Given the description of an element on the screen output the (x, y) to click on. 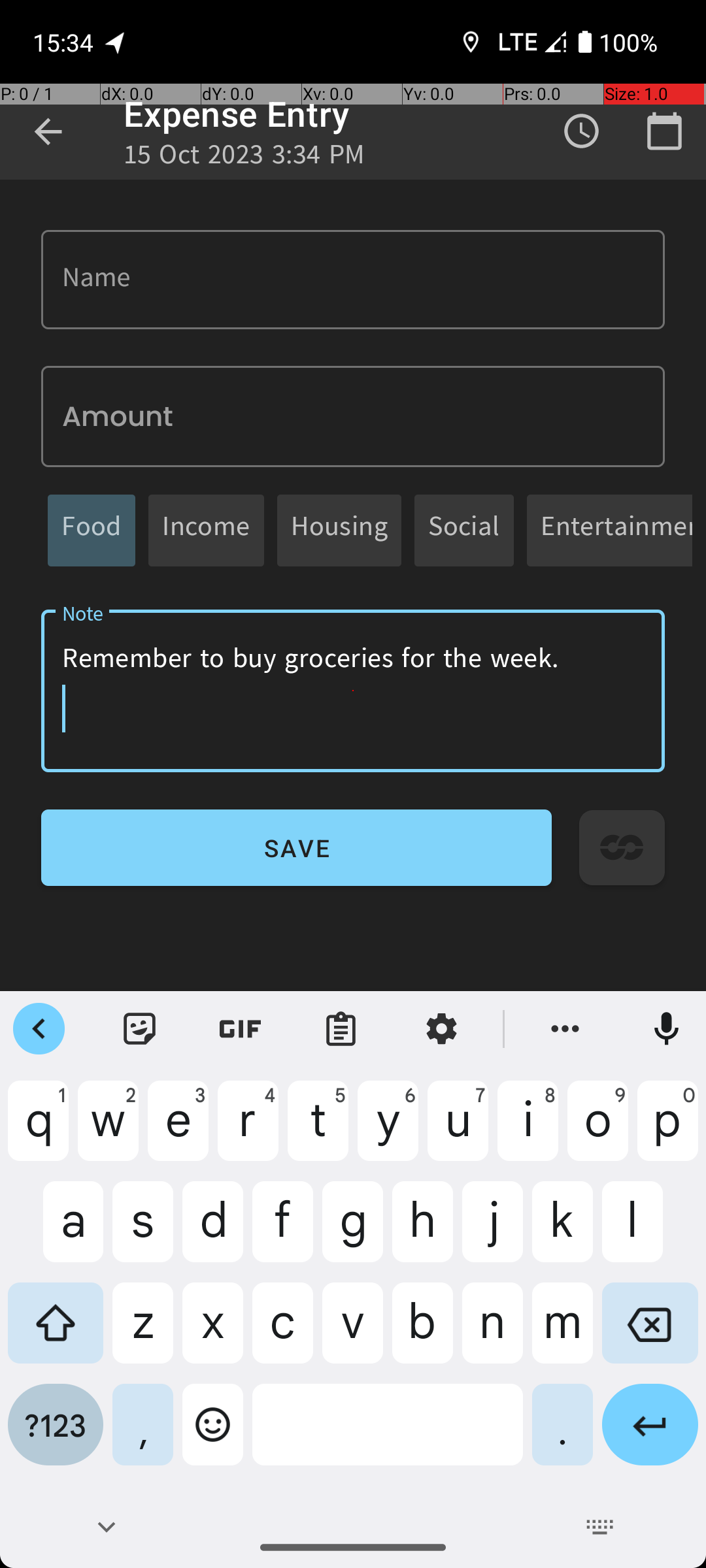
Remember to buy groceries for the week.
 Element type: android.widget.EditText (352, 690)
